Given the description of an element on the screen output the (x, y) to click on. 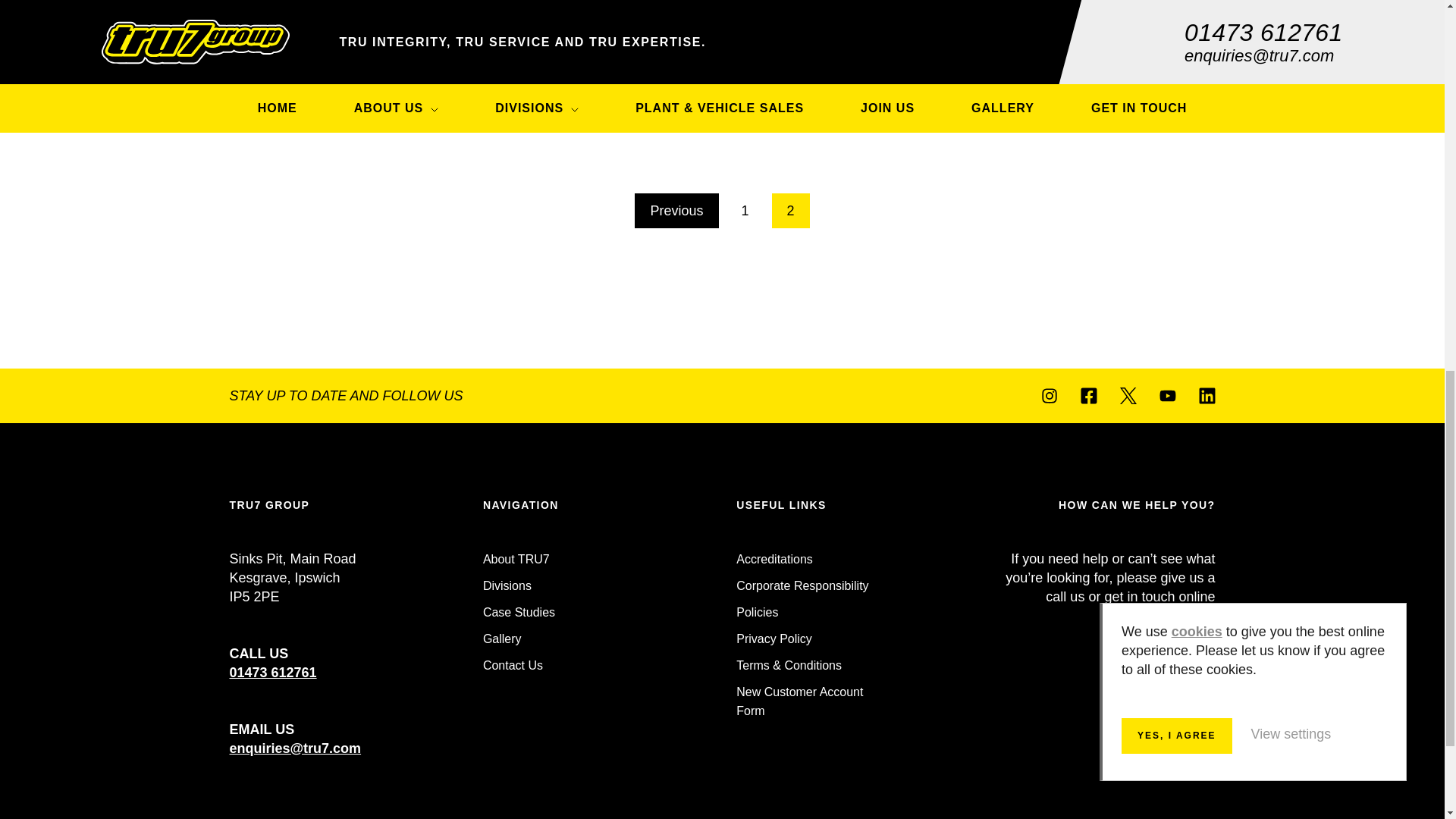
Previous (675, 210)
1 (745, 210)
01473 612761 (271, 672)
